Given the description of an element on the screen output the (x, y) to click on. 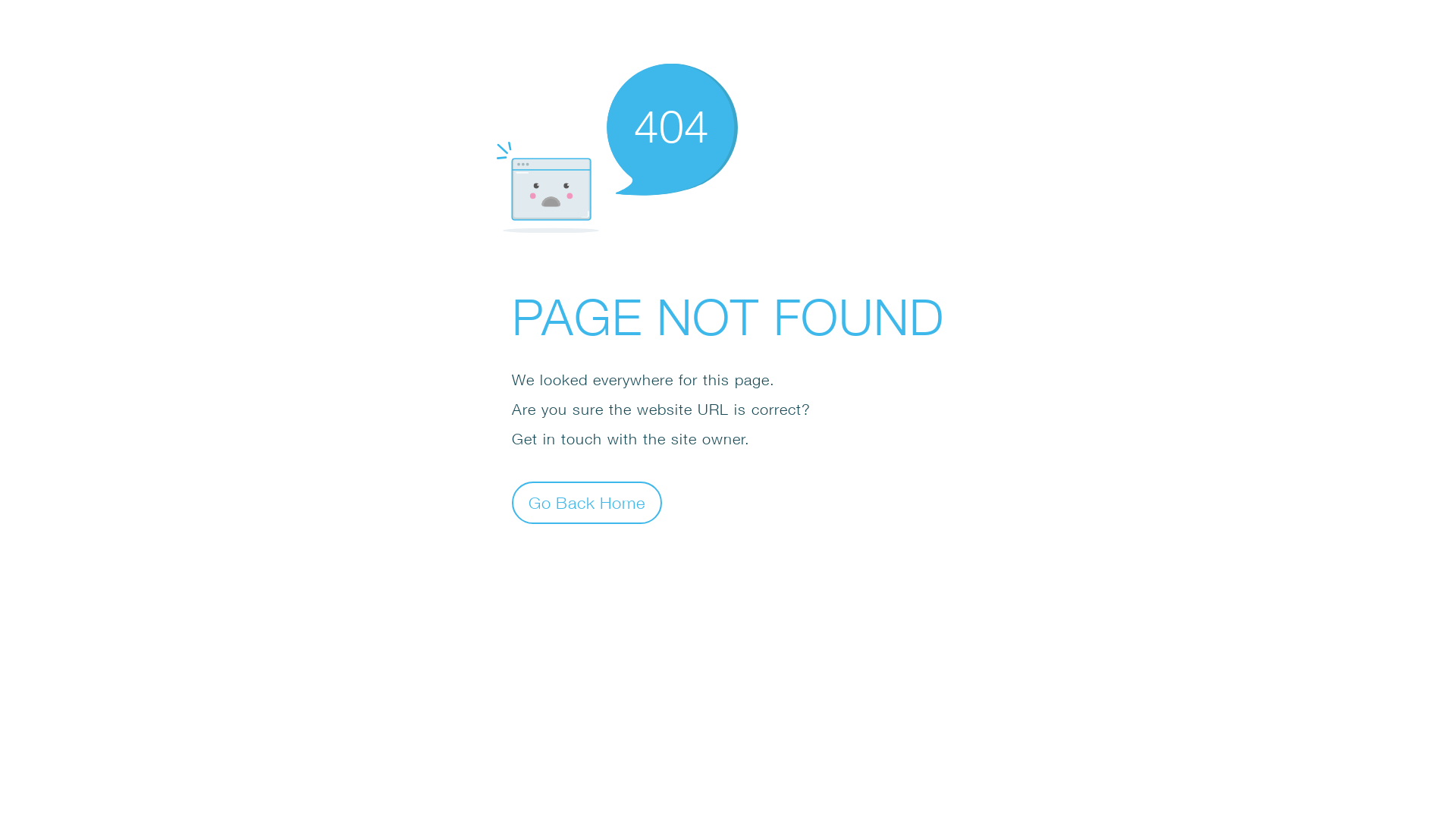
Go Back Home Element type: text (586, 502)
